Given the description of an element on the screen output the (x, y) to click on. 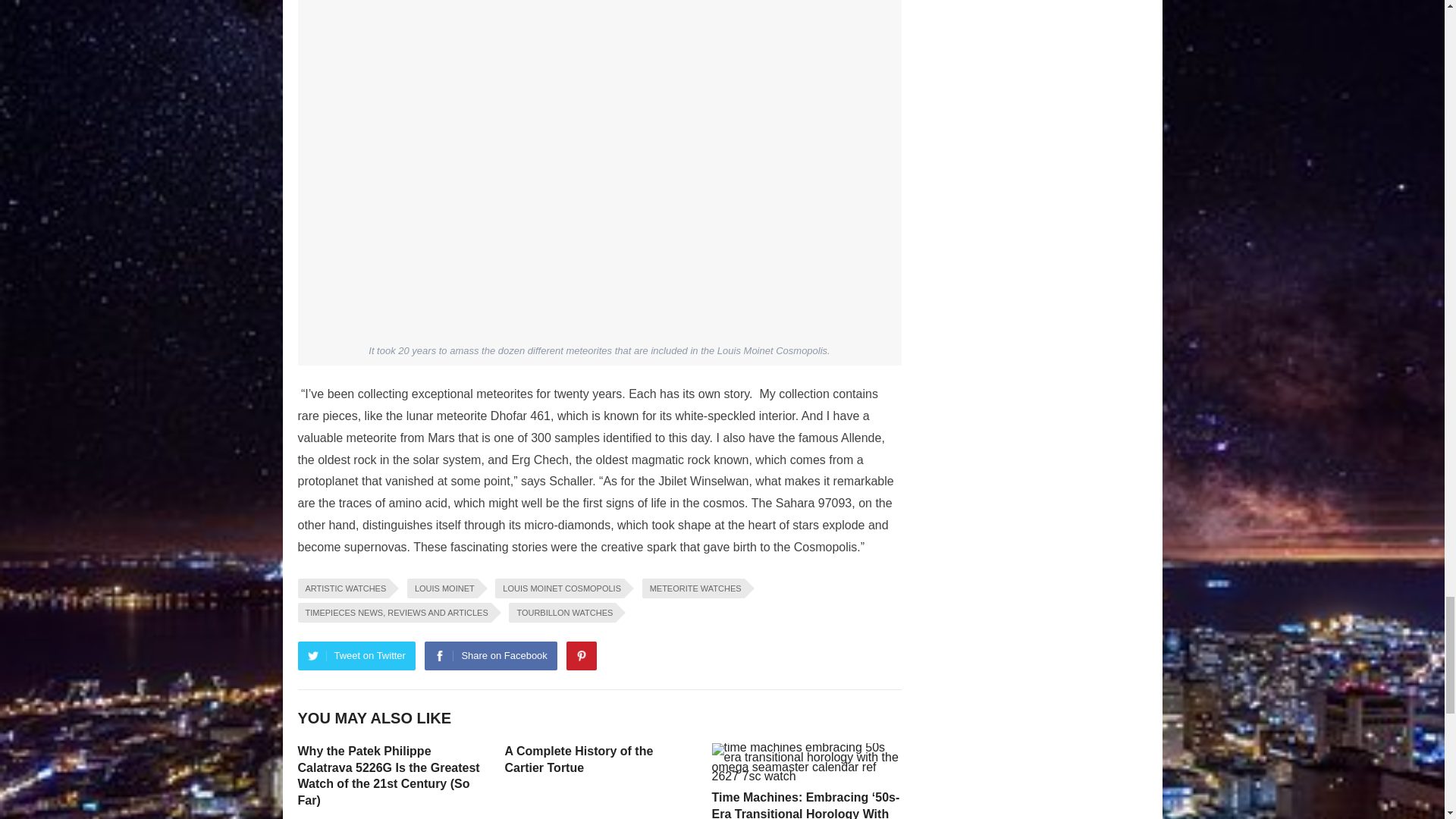
Pinterest (581, 655)
Tweet on Twitter (355, 655)
METEORITE WATCHES (693, 587)
Share on Facebook (490, 655)
ARTISTIC WATCHES (342, 587)
A Complete History of the Cartier Tortue (579, 758)
TIMEPIECES NEWS, REVIEWS AND ARTICLES (393, 611)
TOURBILLON WATCHES (561, 611)
LOUIS MOINET COSMOPOLIS (559, 587)
LOUIS MOINET (442, 587)
